Given the description of an element on the screen output the (x, y) to click on. 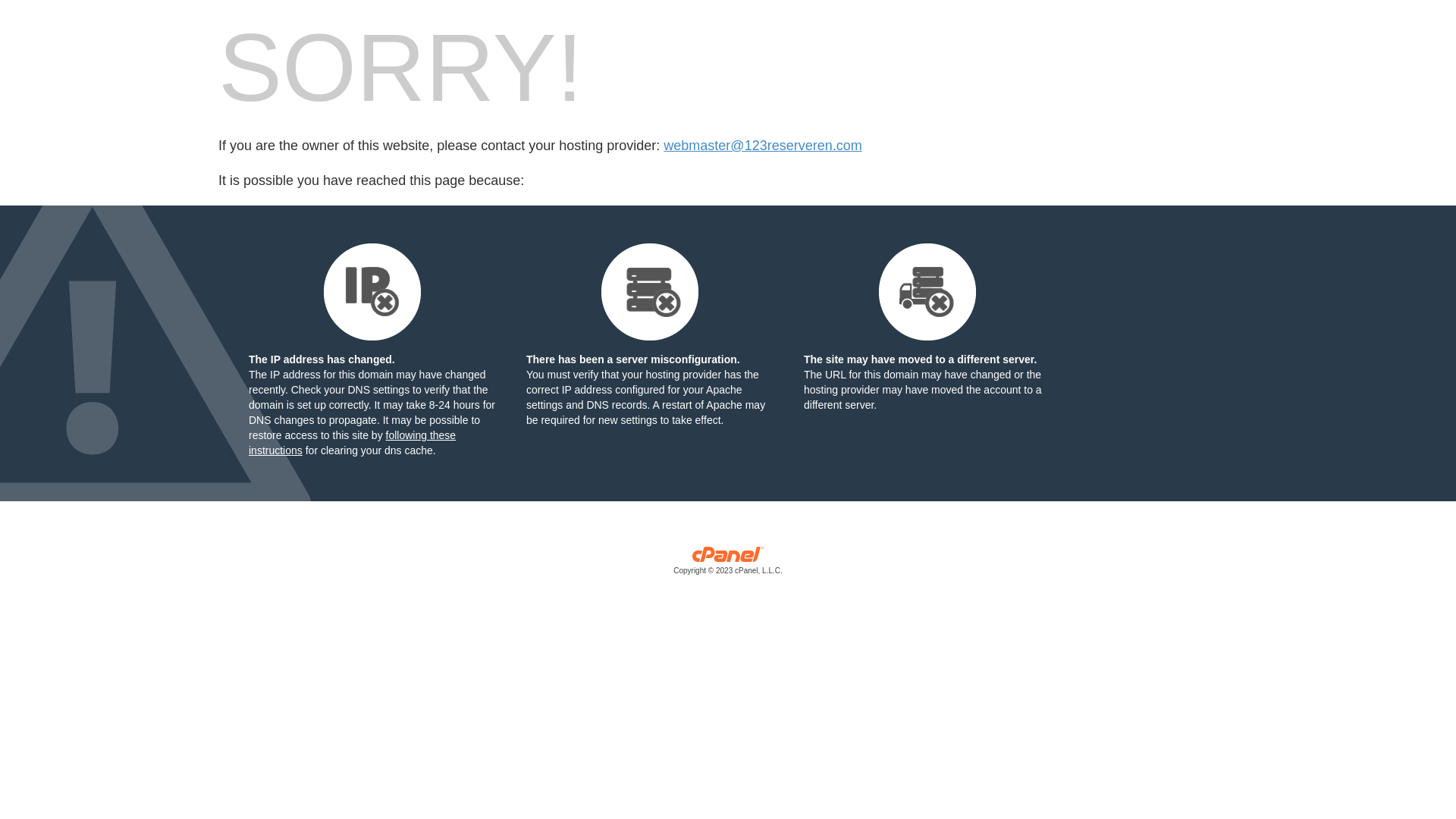
webmaster@123reserveren.com Element type: text (762, 145)
following these instructions Element type: text (351, 442)
